Given the description of an element on the screen output the (x, y) to click on. 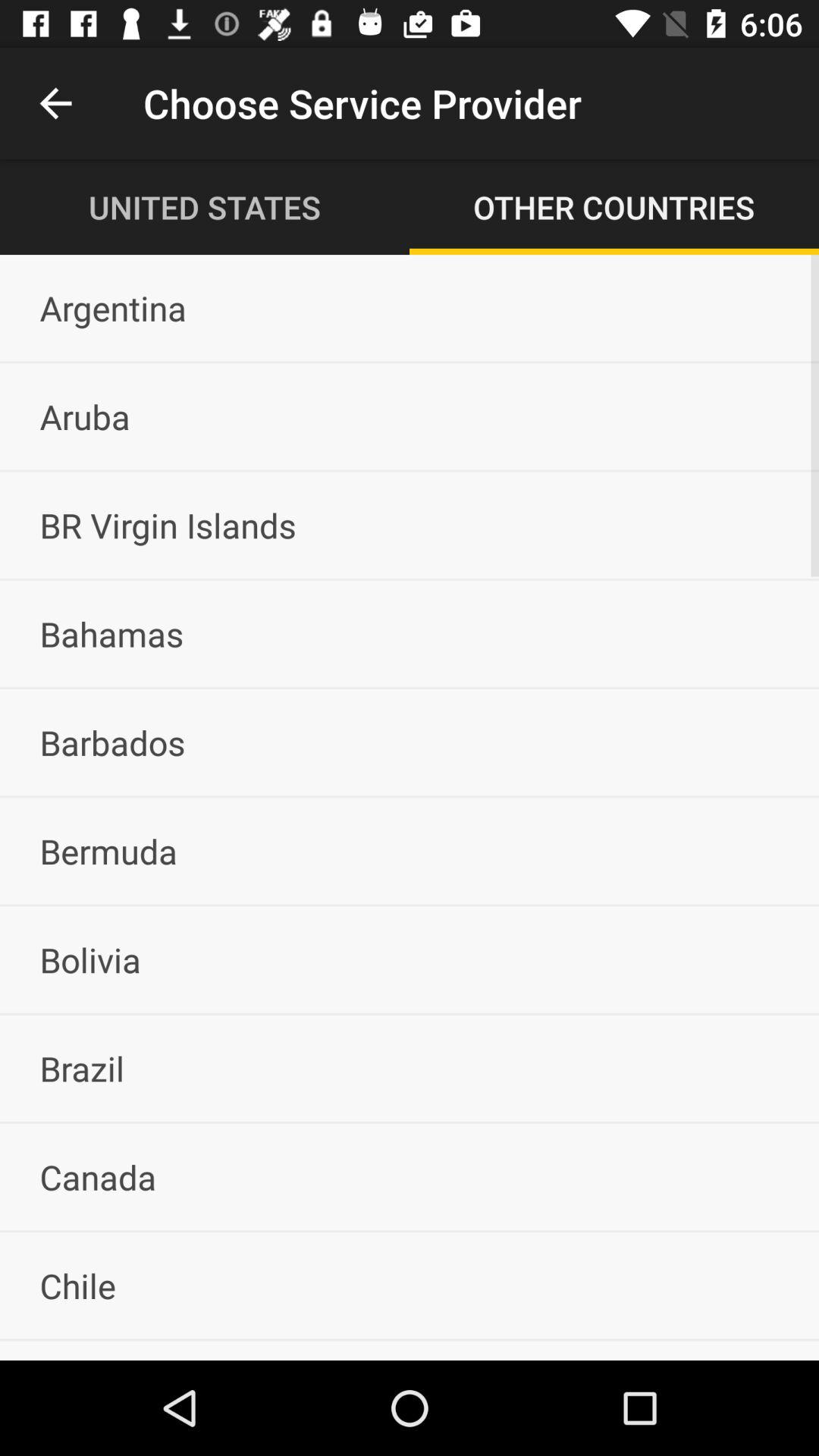
launch the icon below united states (409, 307)
